Given the description of an element on the screen output the (x, y) to click on. 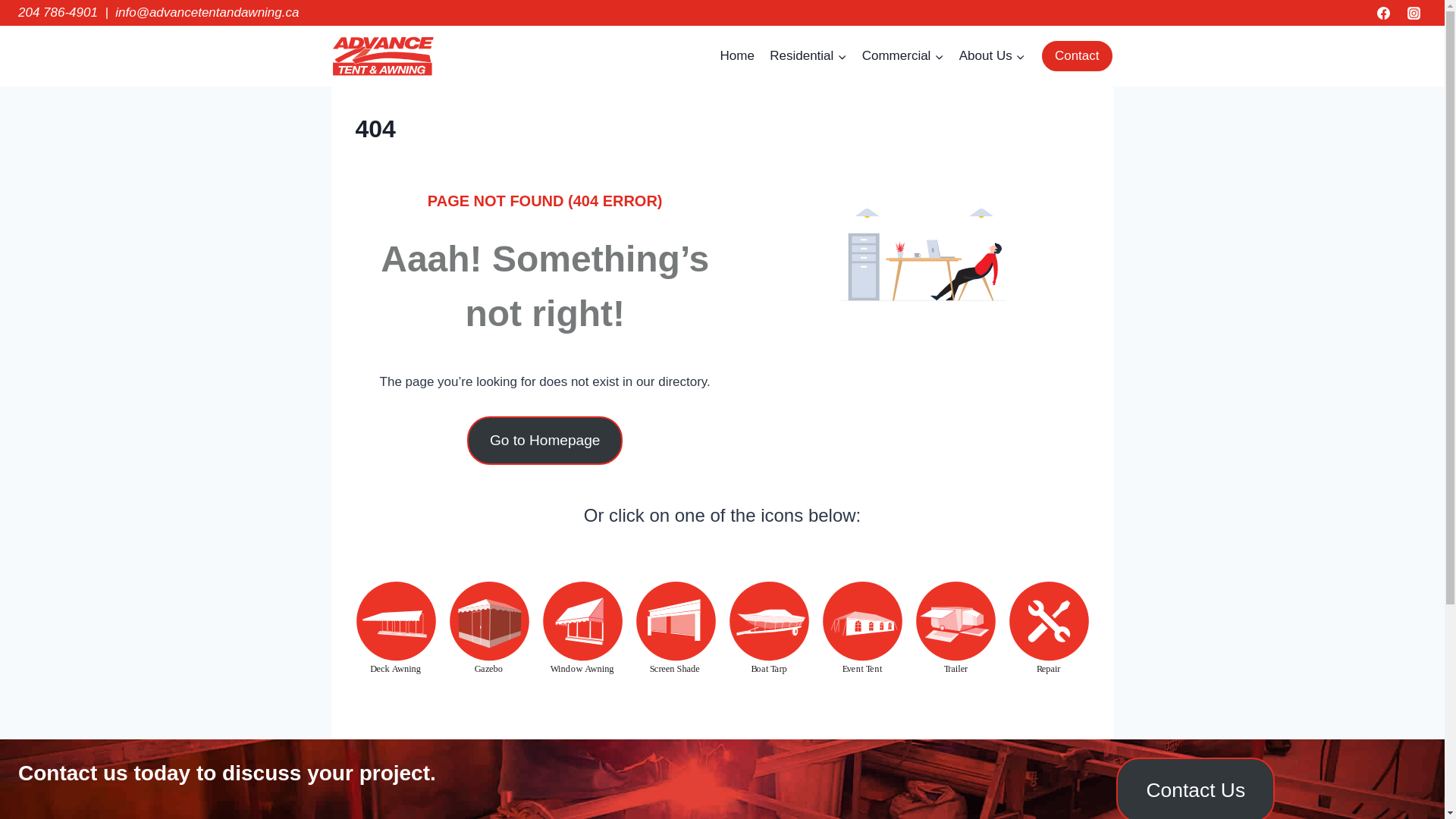
Go to Homepage Element type: text (544, 440)
About Us Element type: text (991, 55)
info@advancetentandawning.ca Element type: text (206, 12)
Home Element type: text (737, 55)
Commercial Element type: text (902, 55)
204 786-4901 Element type: text (57, 12)
Residential Element type: text (807, 55)
Contact Element type: text (1076, 56)
